Given the description of an element on the screen output the (x, y) to click on. 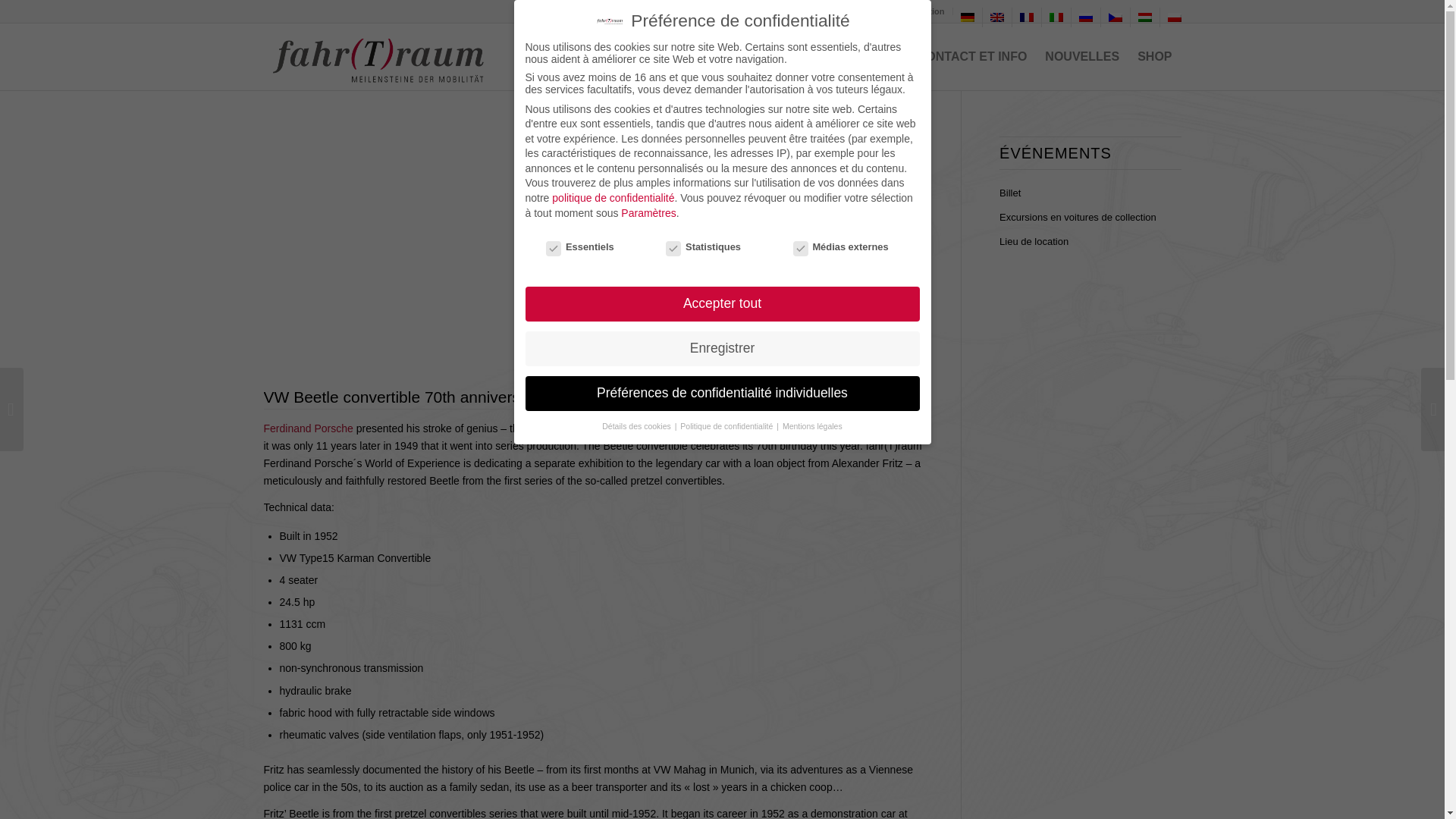
CONTACT ET INFO (972, 56)
Lieu de location (912, 11)
Offres de Groupes (667, 11)
Excursions en voitures de collection (791, 11)
FERDINAND PORSCHE (633, 56)
